Given the description of an element on the screen output the (x, y) to click on. 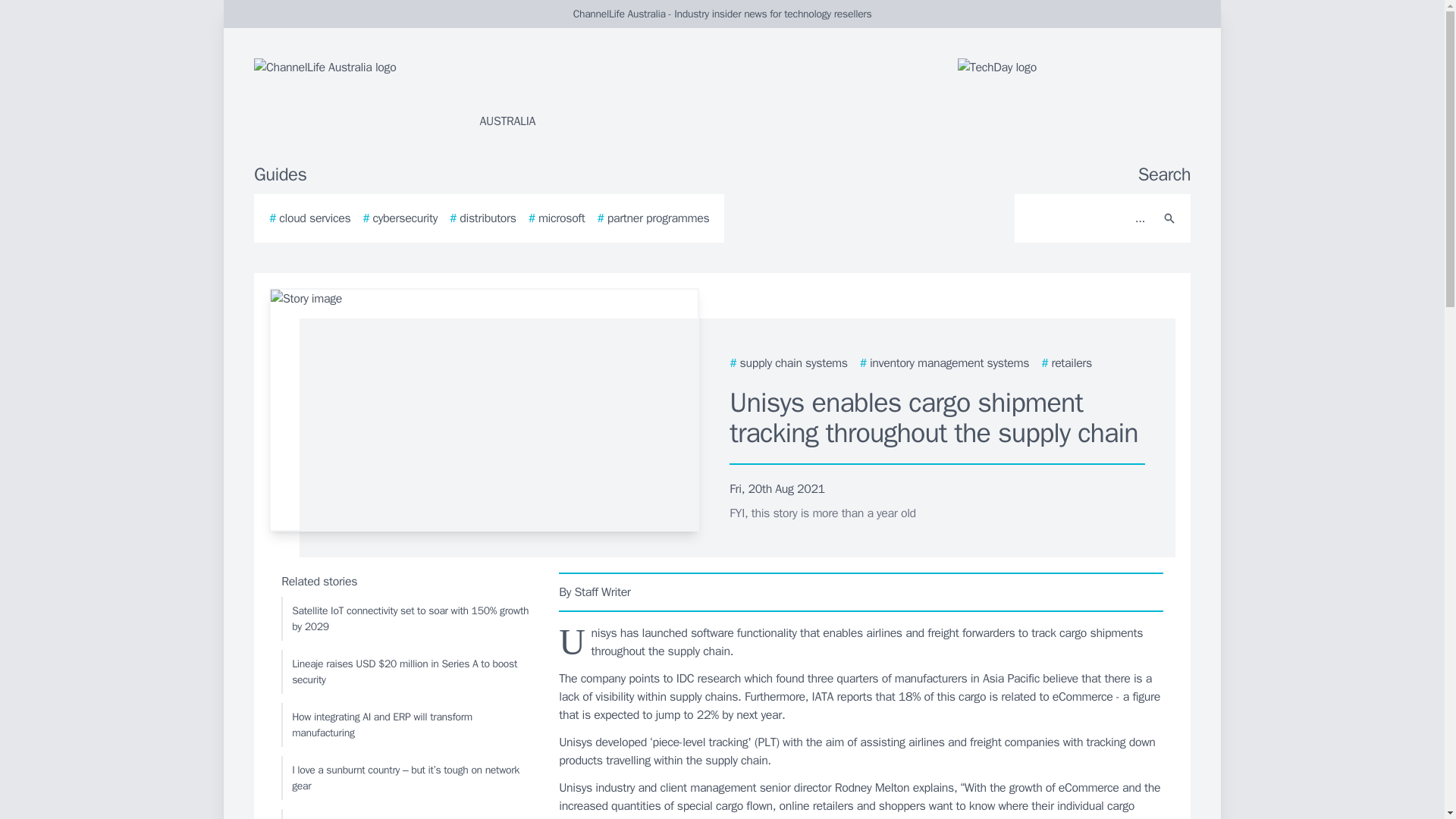
How integrating AI and ERP will transform manufacturing (406, 724)
By Staff Writer (861, 592)
AUSTRALIA (435, 94)
